Given the description of an element on the screen output the (x, y) to click on. 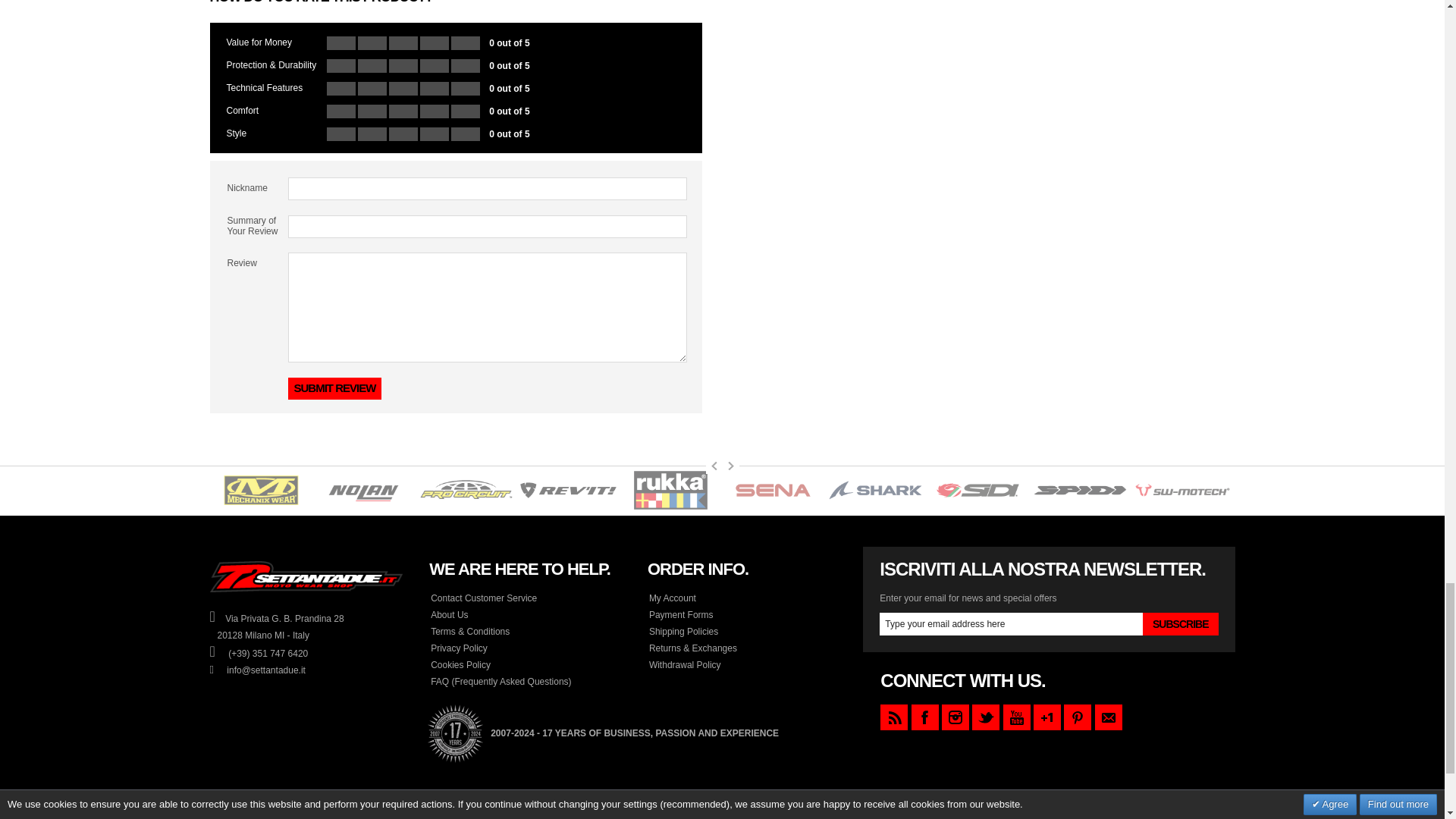
Type your email address here (1010, 623)
